Given the description of an element on the screen output the (x, y) to click on. 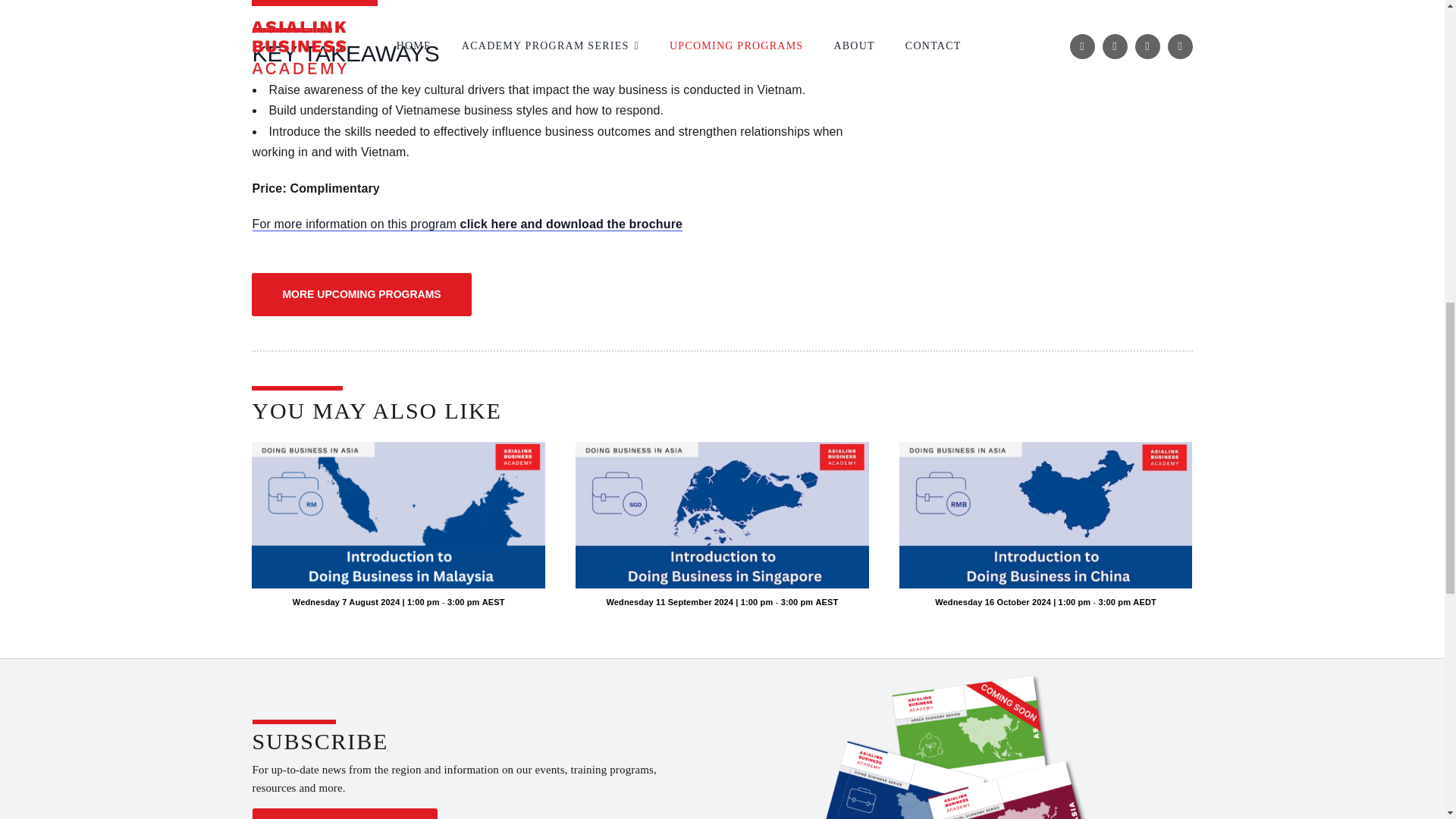
AsiaLink Business Academy Brochures (957, 744)
